Given the description of an element on the screen output the (x, y) to click on. 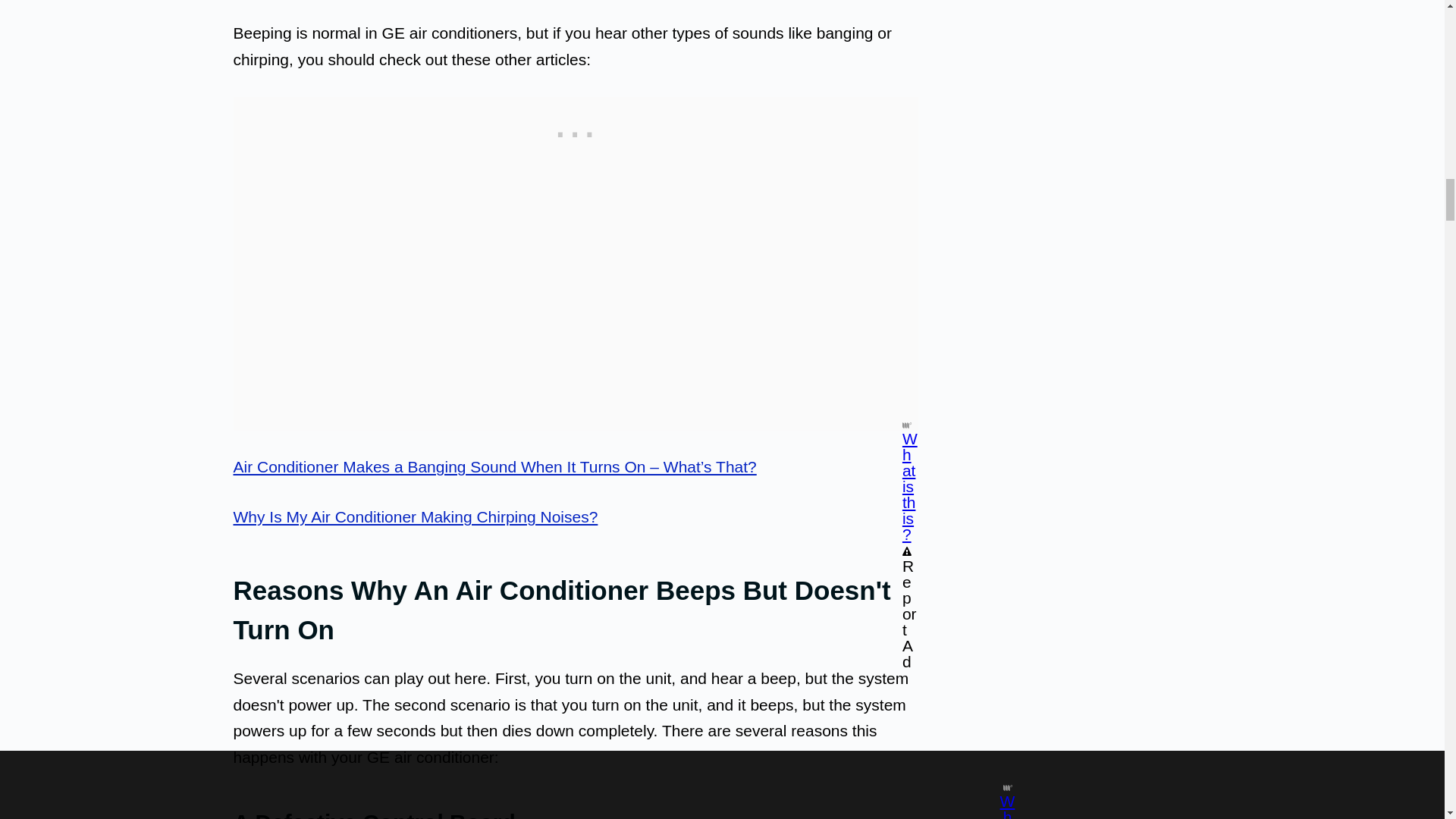
3rd party ad content (575, 131)
